Given the description of an element on the screen output the (x, y) to click on. 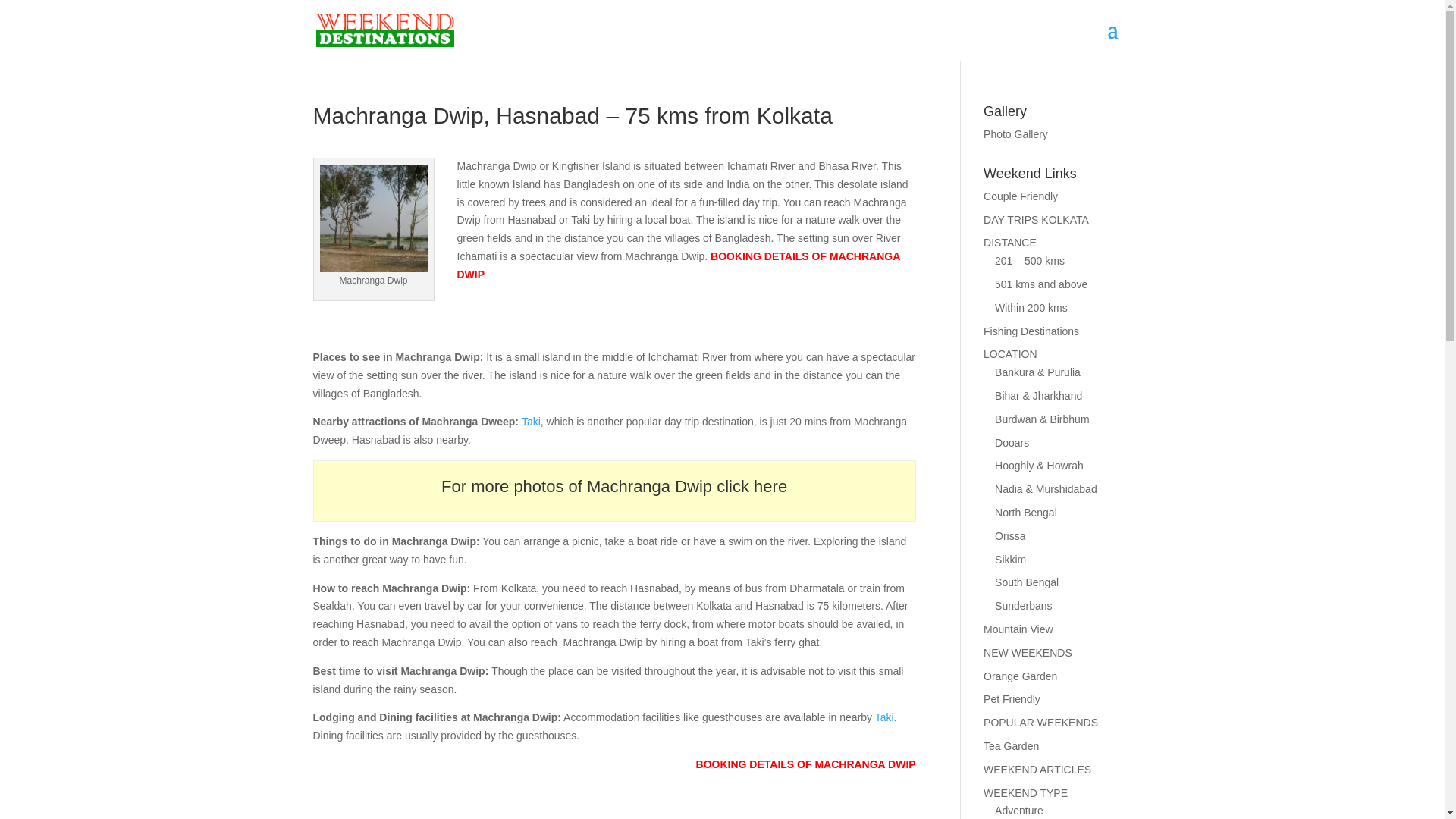
Advertisement (489, 337)
Taki (884, 717)
Taki (530, 421)
For more photos of Machranga Dwip click here (614, 486)
Taki, Hasnabad (530, 421)
DAY TRIPS KOLKATA (1036, 219)
BOOKING DETAILS OF MACHRANGA DWIP (805, 764)
Couple Friendly (1021, 196)
501 kms and above (1040, 284)
Fishing Destinations (1031, 331)
Machranga Dwip (374, 217)
DISTANCE (1010, 242)
Baganbari at Taki (884, 717)
LOCATION (1010, 354)
Hundreds of images sorted on destinations (1016, 133)
